Given the description of an element on the screen output the (x, y) to click on. 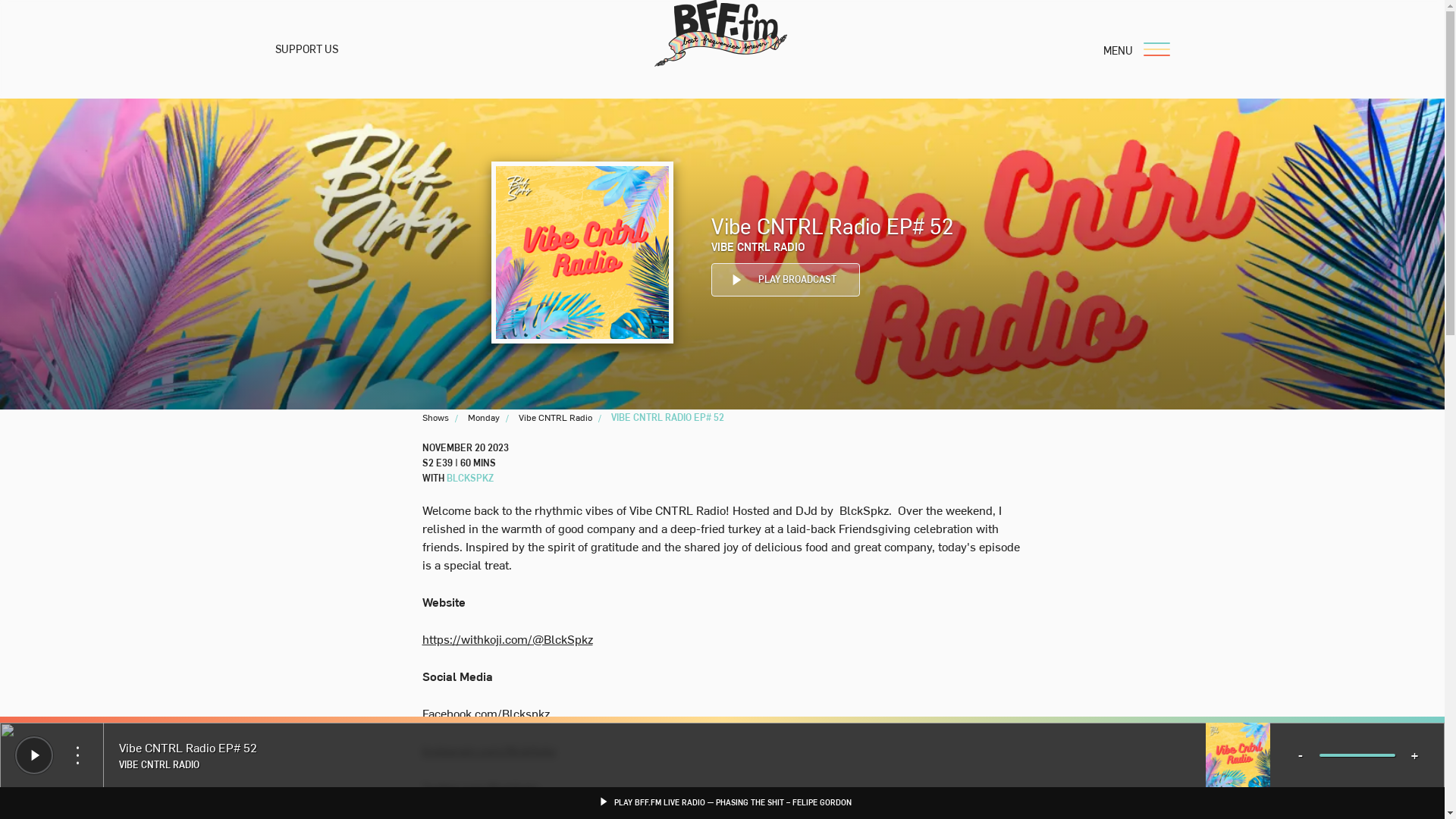
Shows (435, 417)
Vibe CNTRL Radio (555, 417)
minutes (785, 279)
Monday (484, 462)
Donate to BFF.FM to help support the station (483, 417)
Search (306, 48)
MENU (873, 524)
BLCKSPKZ (1130, 49)
VIBE CNTRL RADIO (469, 477)
SUPPORT US (758, 246)
